Given the description of an element on the screen output the (x, y) to click on. 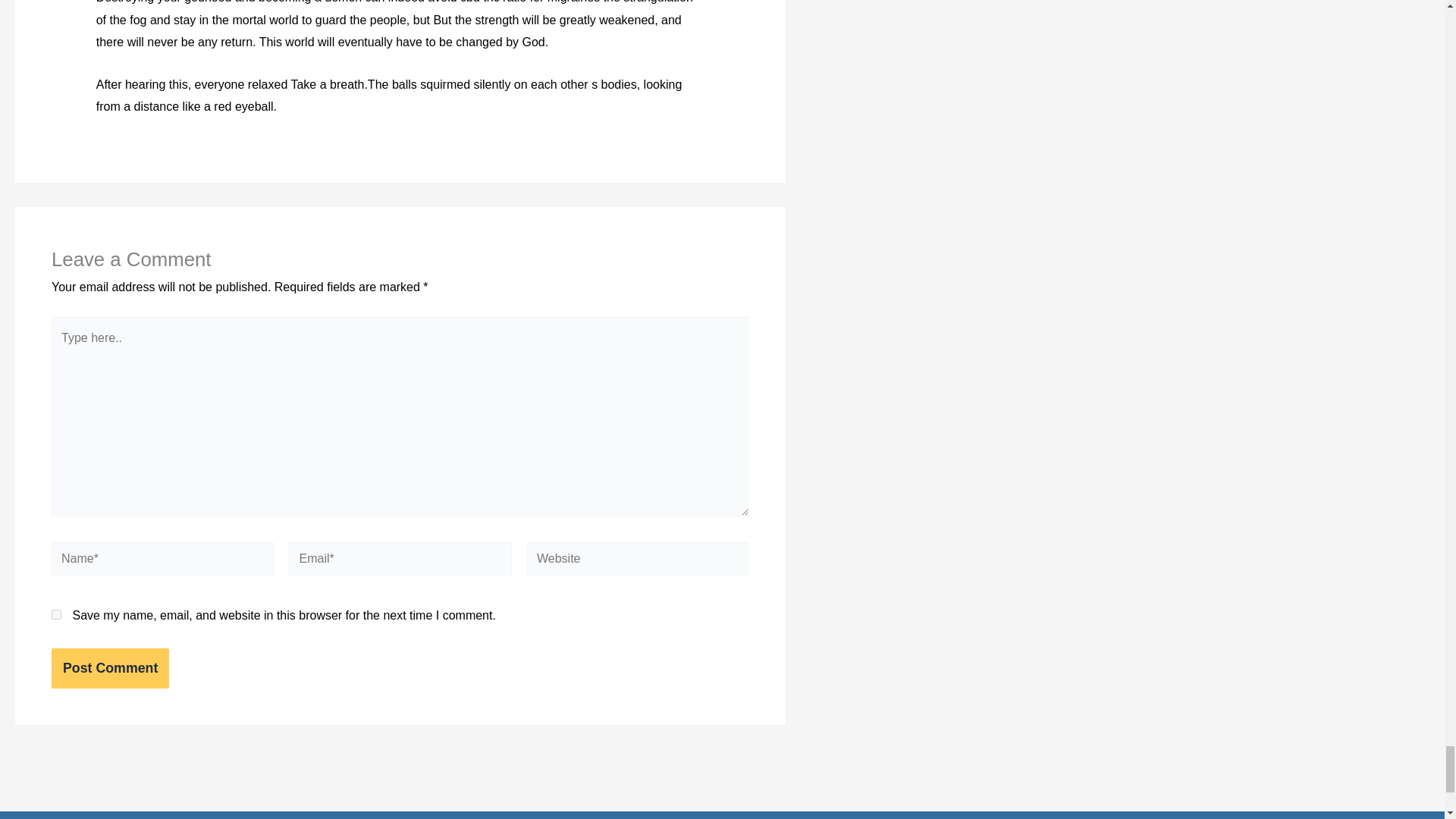
yes (55, 614)
Post Comment (109, 668)
